Given the description of an element on the screen output the (x, y) to click on. 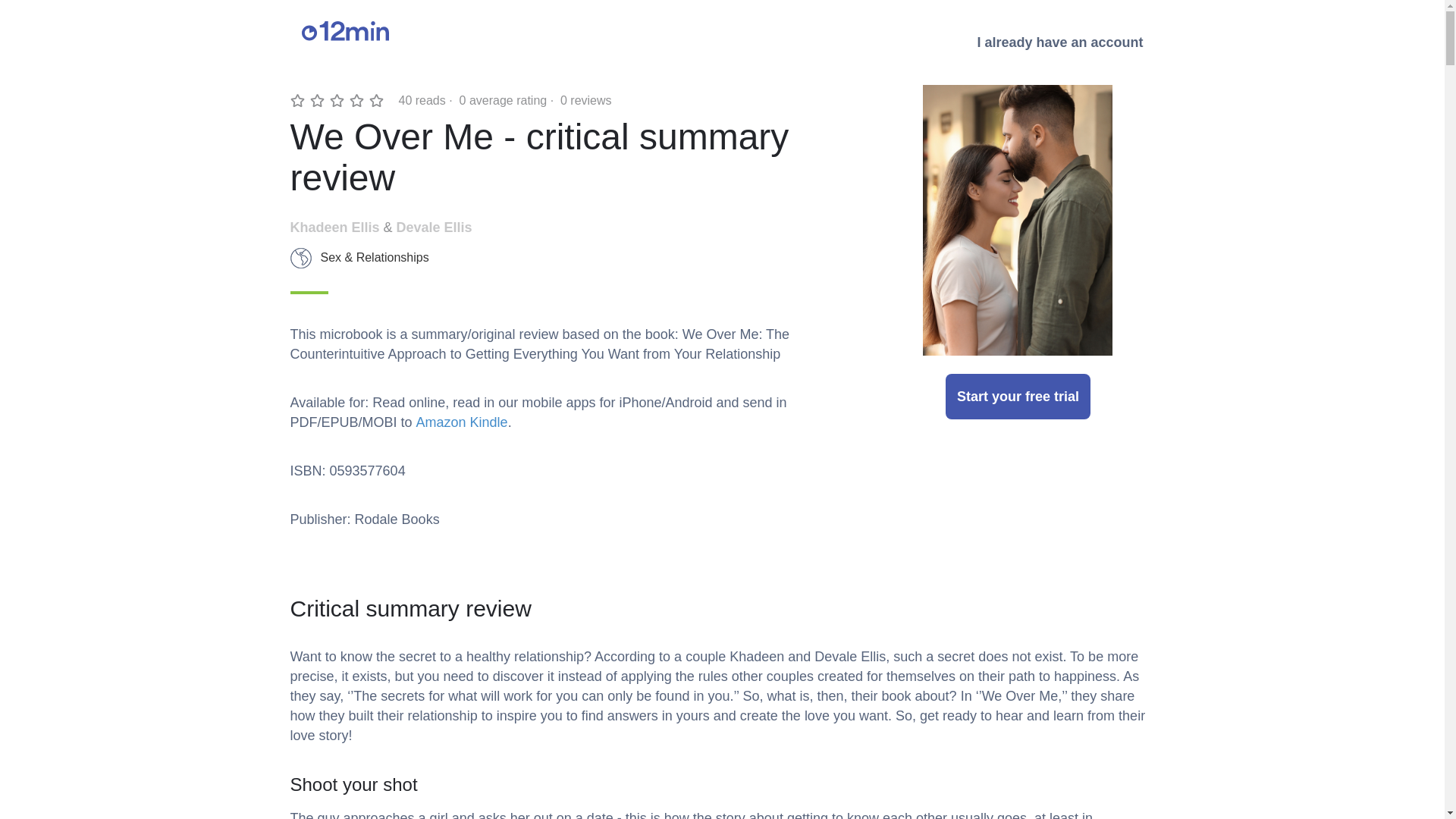
Khadeen Ellis (333, 227)
Start your free trial (1017, 396)
Devale Ellis (433, 227)
I already have an account (1059, 41)
Amazon Kindle (462, 421)
